Given the description of an element on the screen output the (x, y) to click on. 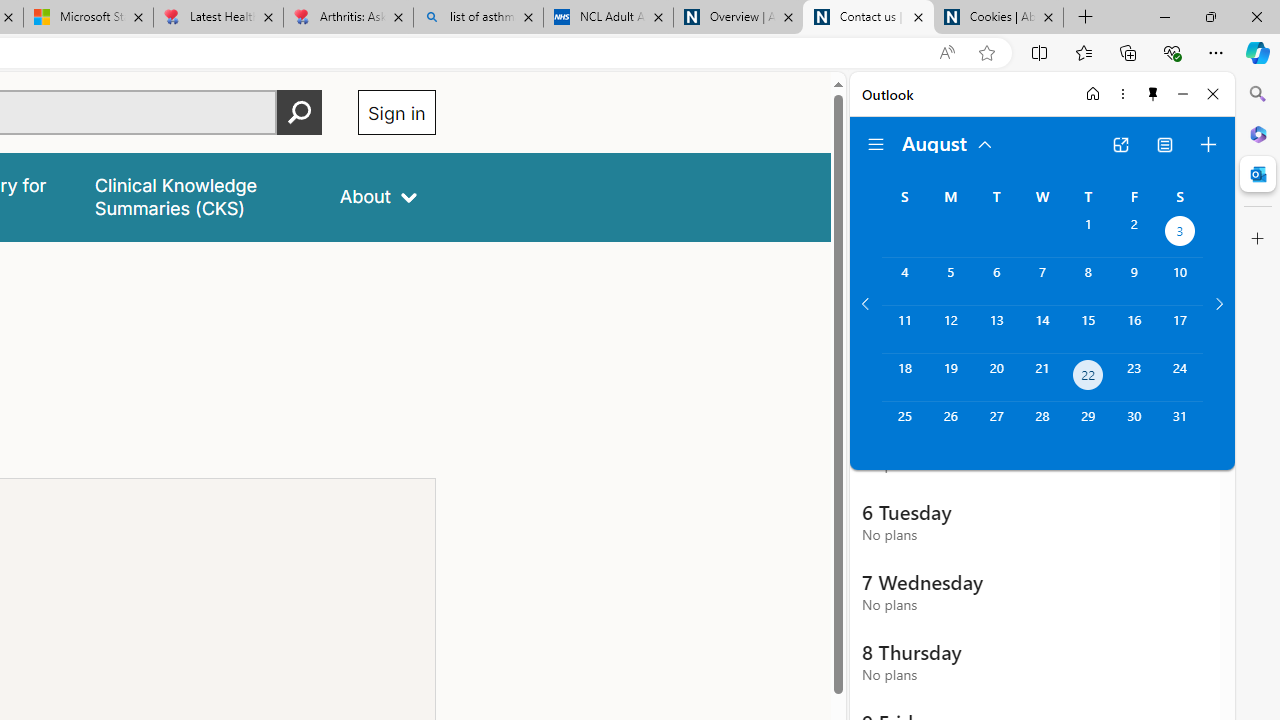
View Switcher. Current view is Agenda view (1165, 144)
Thursday, August 29, 2024.  (1088, 425)
Saturday, August 10, 2024.  (1180, 281)
false (198, 196)
Cookies | About | NICE (998, 17)
Thursday, August 15, 2024.  (1088, 329)
Wednesday, August 14, 2024.  (1042, 329)
Monday, August 12, 2024.  (950, 329)
August (948, 141)
Wednesday, August 7, 2024.  (1042, 281)
